Given the description of an element on the screen output the (x, y) to click on. 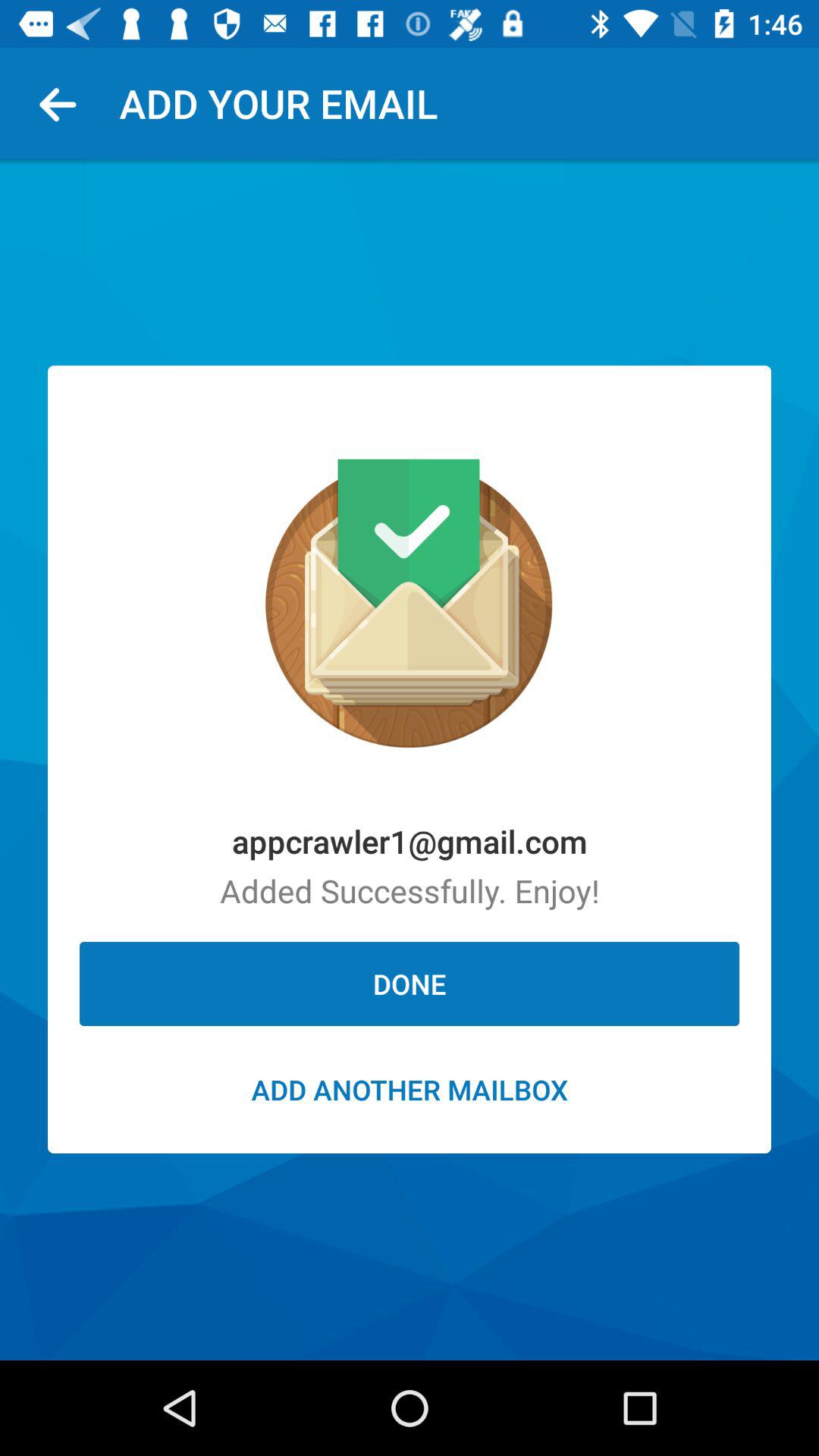
tap done (409, 983)
